Given the description of an element on the screen output the (x, y) to click on. 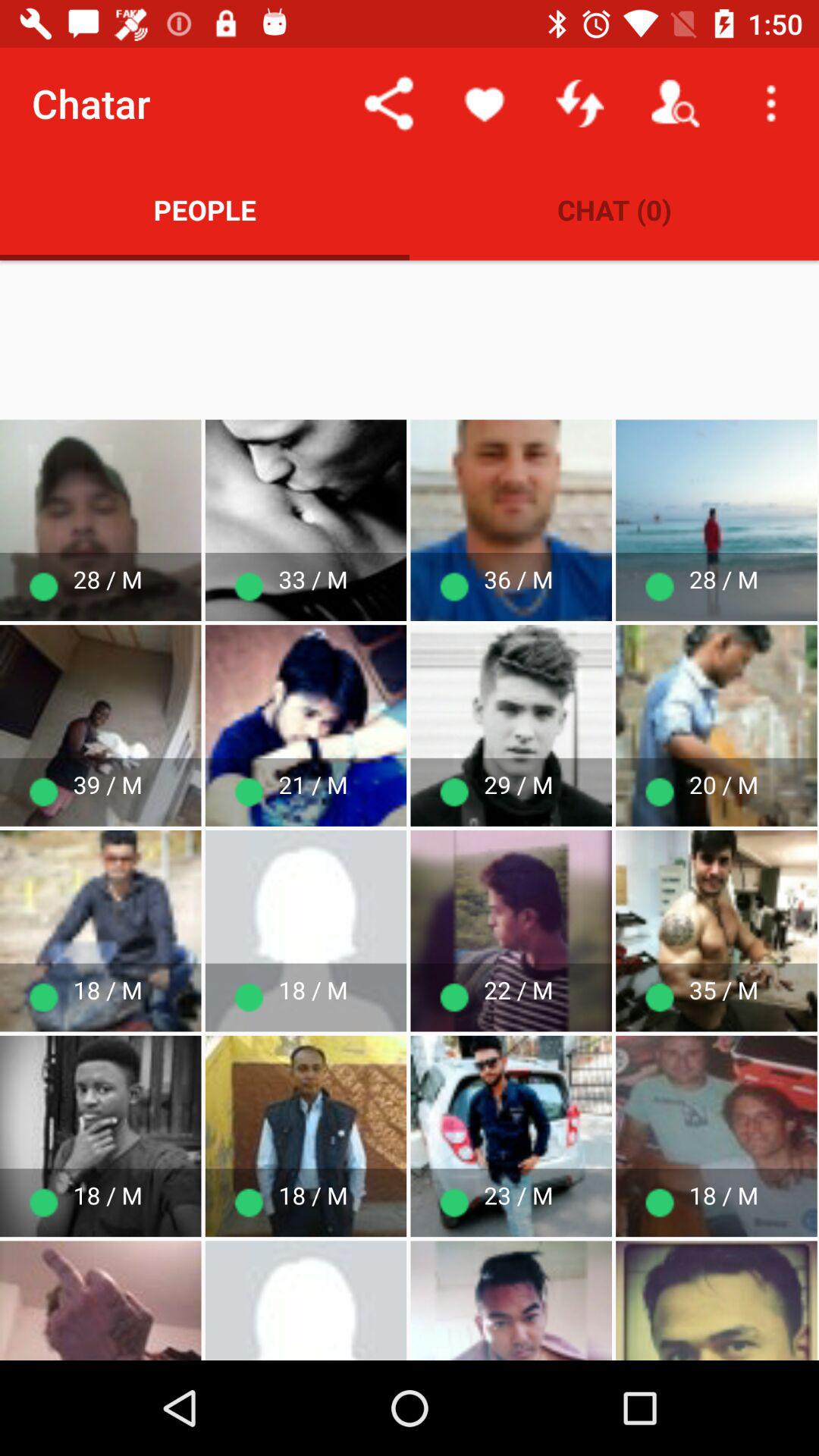
scroll until people icon (204, 209)
